Given the description of an element on the screen output the (x, y) to click on. 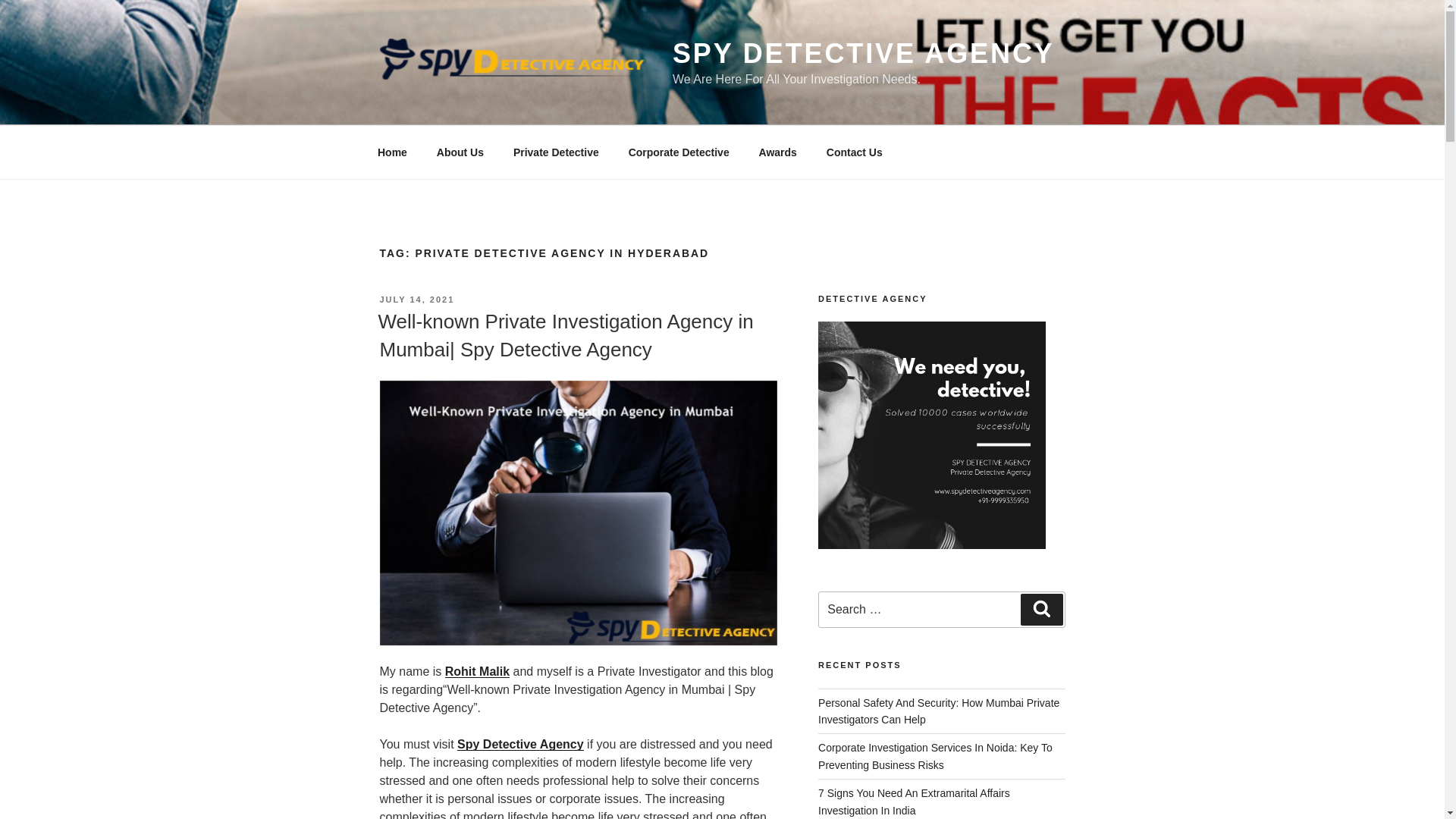
Spy Detective Agency (520, 744)
Awards (777, 151)
SPY DETECTIVE AGENCY (863, 52)
Private Detective (555, 151)
Corporate Detective (678, 151)
Home (392, 151)
About Us (459, 151)
Rohit Malik (477, 671)
Contact Us (853, 151)
JULY 14, 2021 (416, 298)
